Given the description of an element on the screen output the (x, y) to click on. 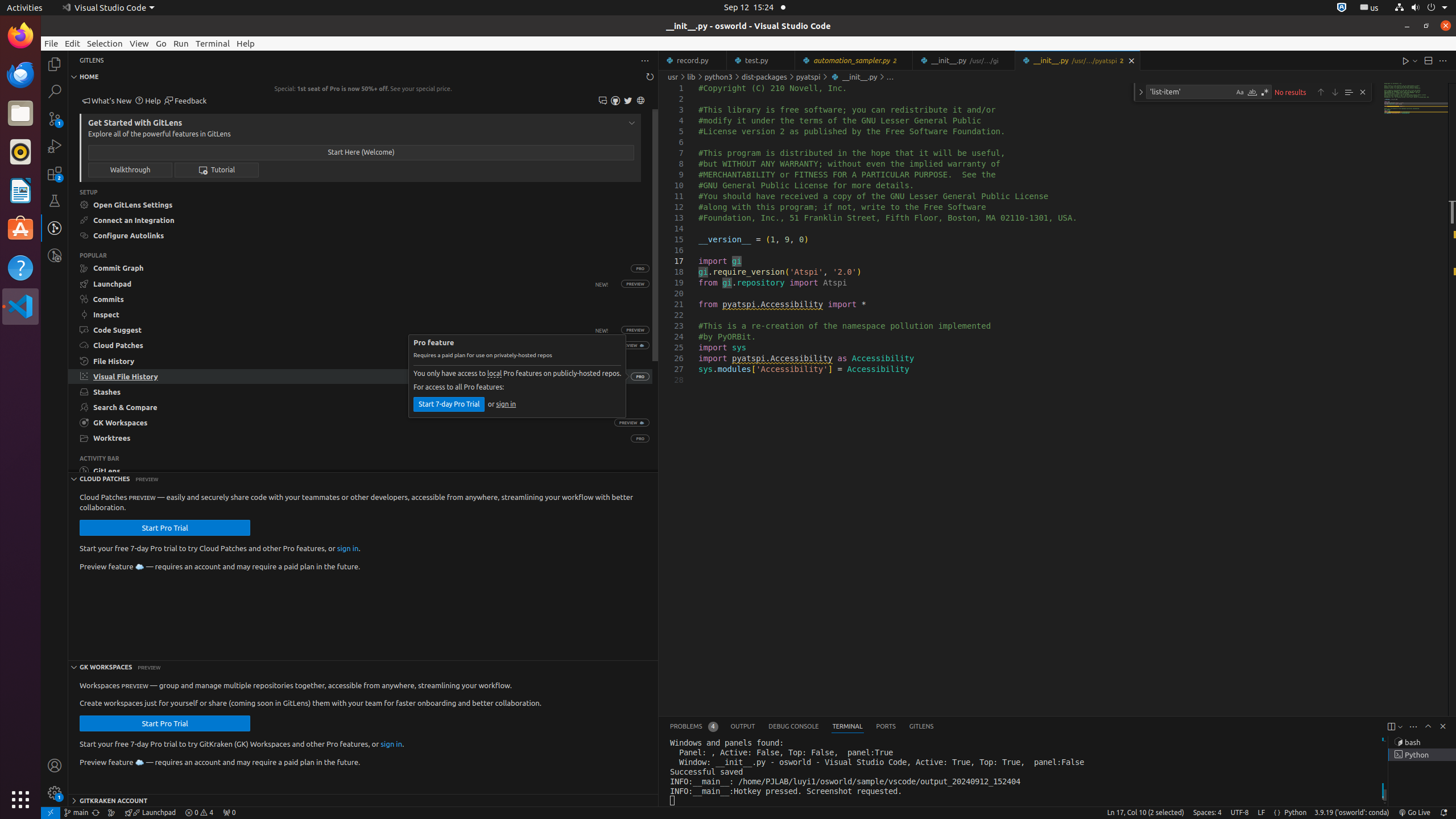
GitHub Discussions Element type: link (602, 100)
Firefox Web Browser Element type: push-button (20, 35)
Show the GitLens Commit Graph Element type: push-button (111, 812)
GitHub Repo Element type: link (615, 100)
